Given the description of an element on the screen output the (x, y) to click on. 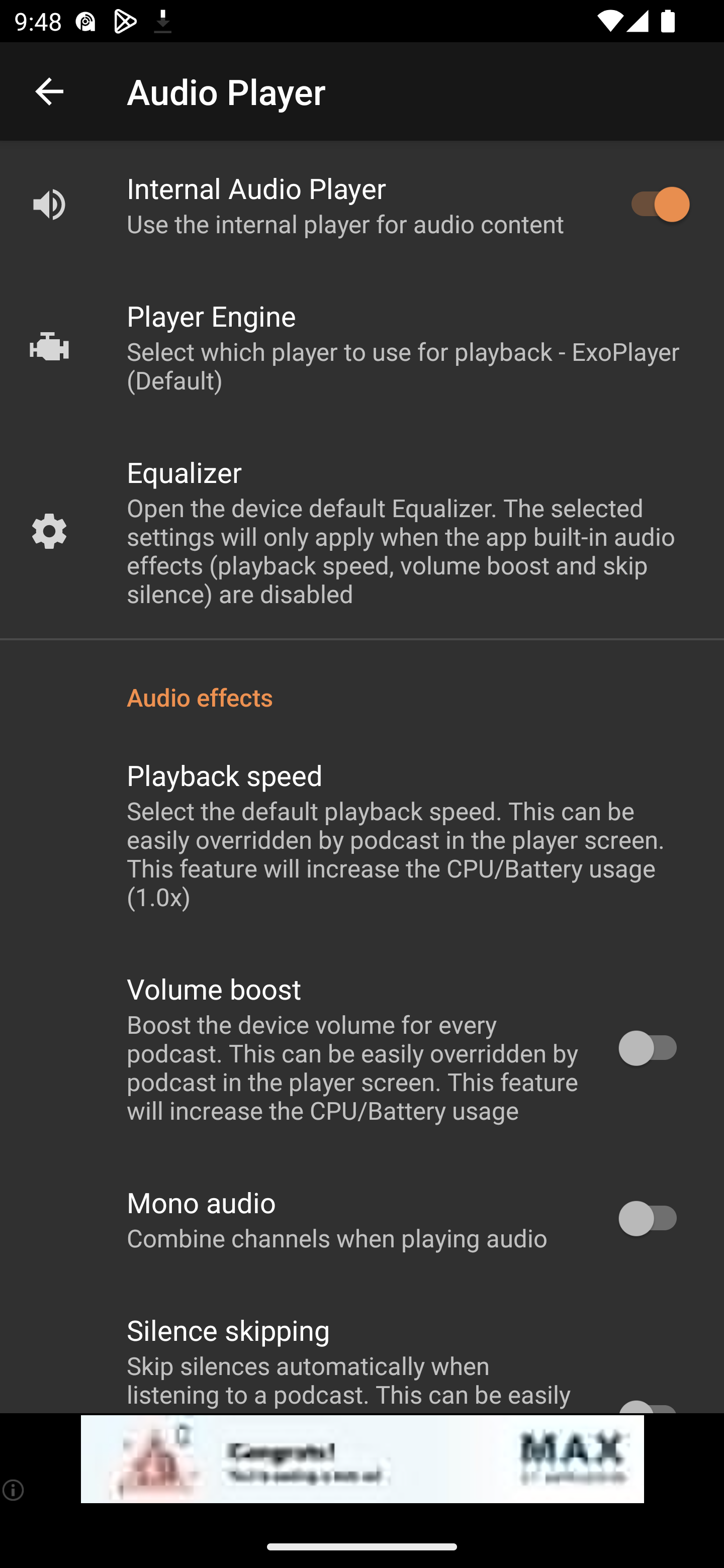
Navigate up (49, 91)
Mono audio Combine channels when playing audio (362, 1218)
app-monetization (362, 1459)
(i) (14, 1489)
